Given the description of an element on the screen output the (x, y) to click on. 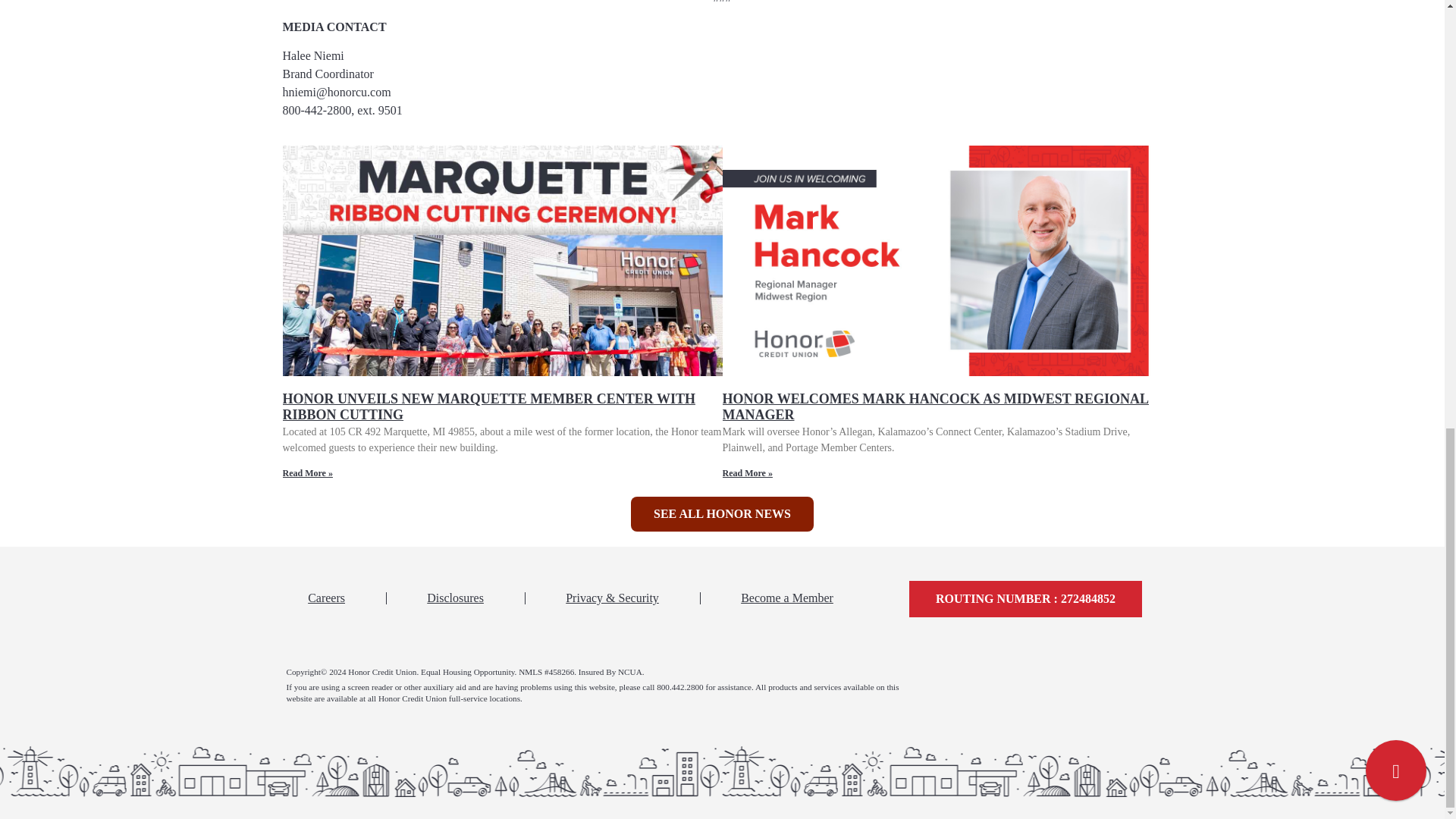
Click to Copy (1024, 598)
